Given the description of an element on the screen output the (x, y) to click on. 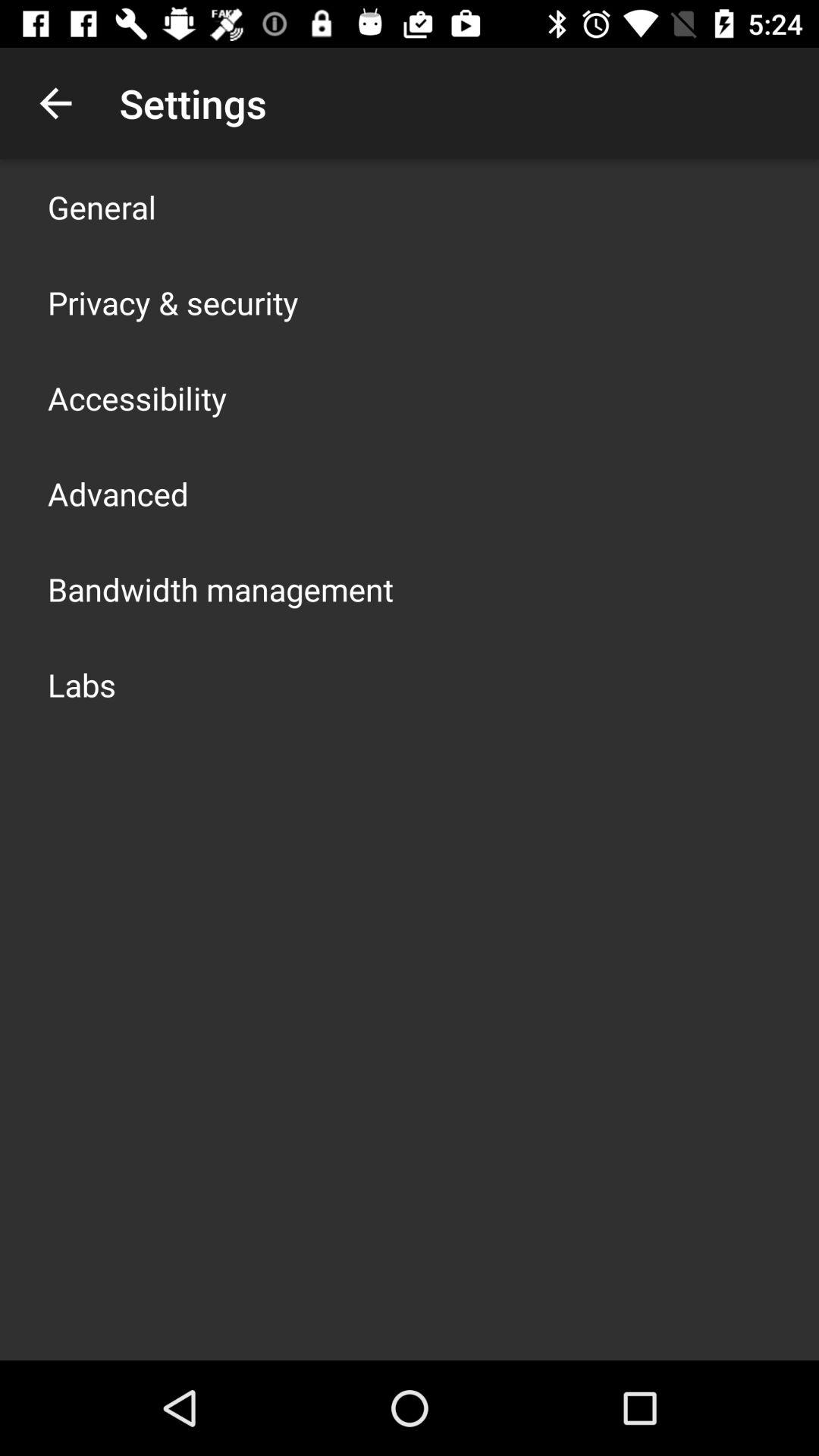
click item below the accessibility icon (117, 493)
